Given the description of an element on the screen output the (x, y) to click on. 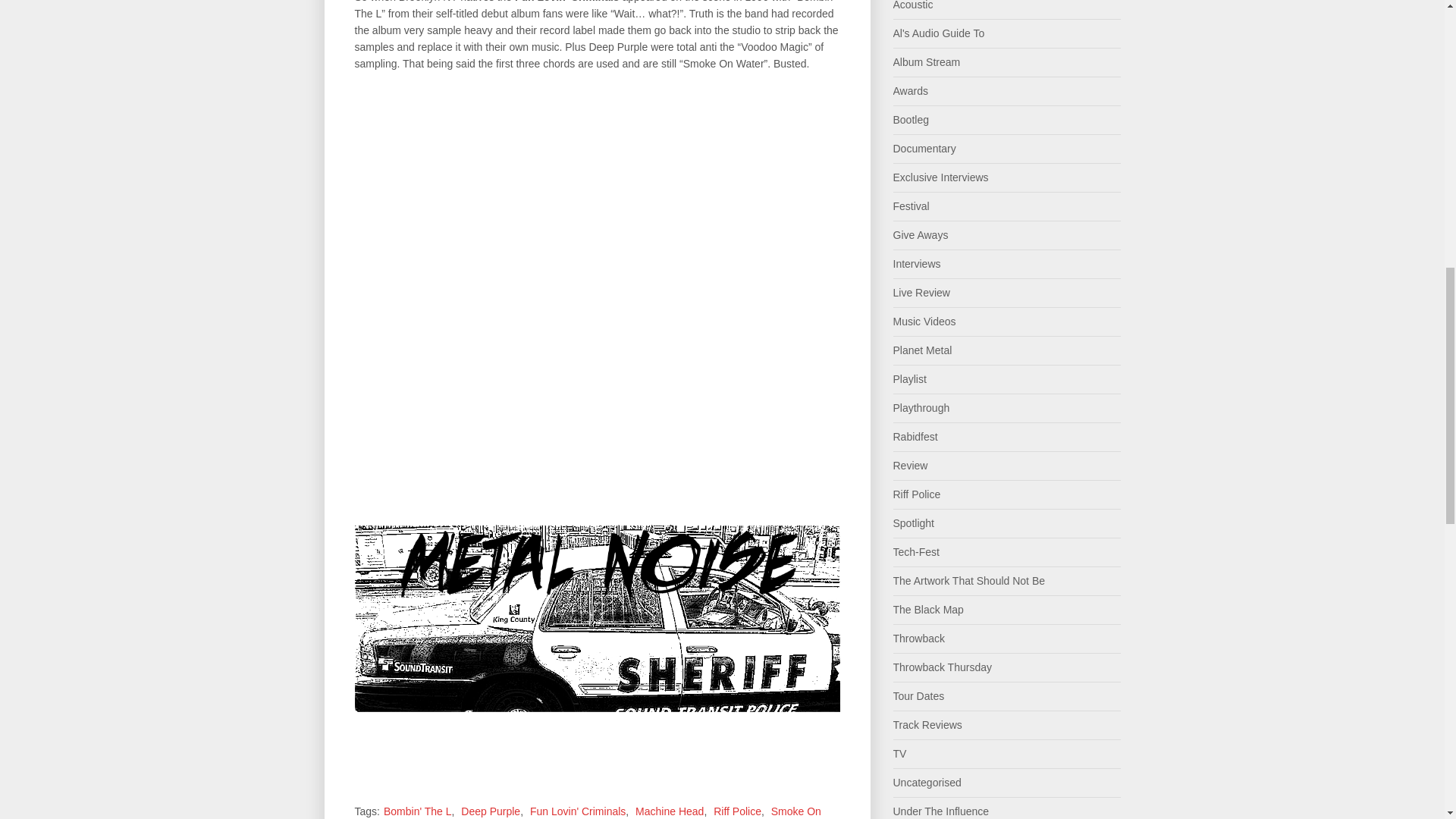
Acoustic (913, 5)
Al's Audio Guide To (939, 33)
Bombin' The L (417, 811)
Deep Purple (490, 811)
Riff Police (737, 811)
Fun Lovin' Criminals (577, 811)
Smoke On Water (588, 812)
Machine Head (668, 811)
